Given the description of an element on the screen output the (x, y) to click on. 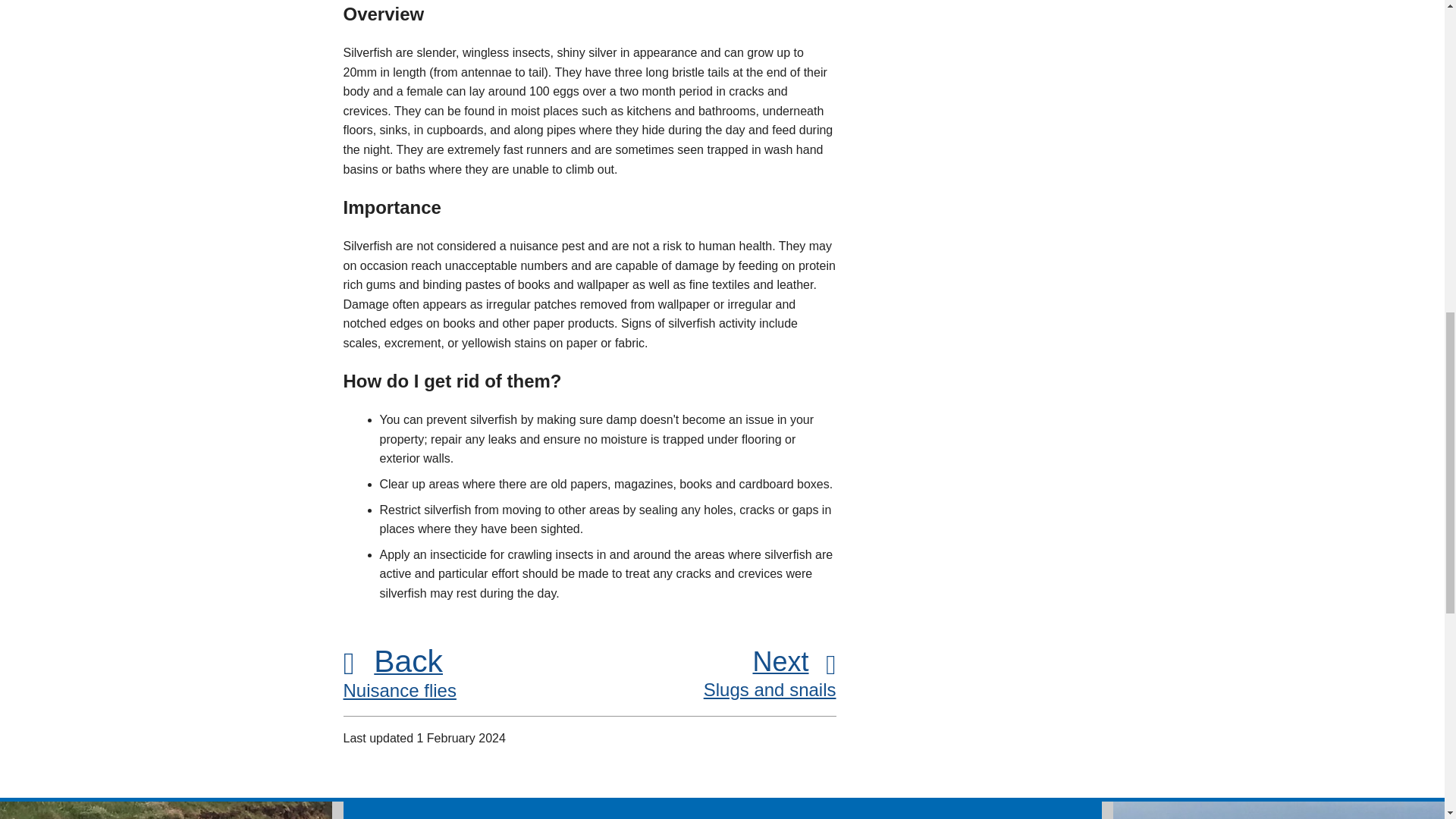
Is there anything wrong with this page? (722, 810)
